Given the description of an element on the screen output the (x, y) to click on. 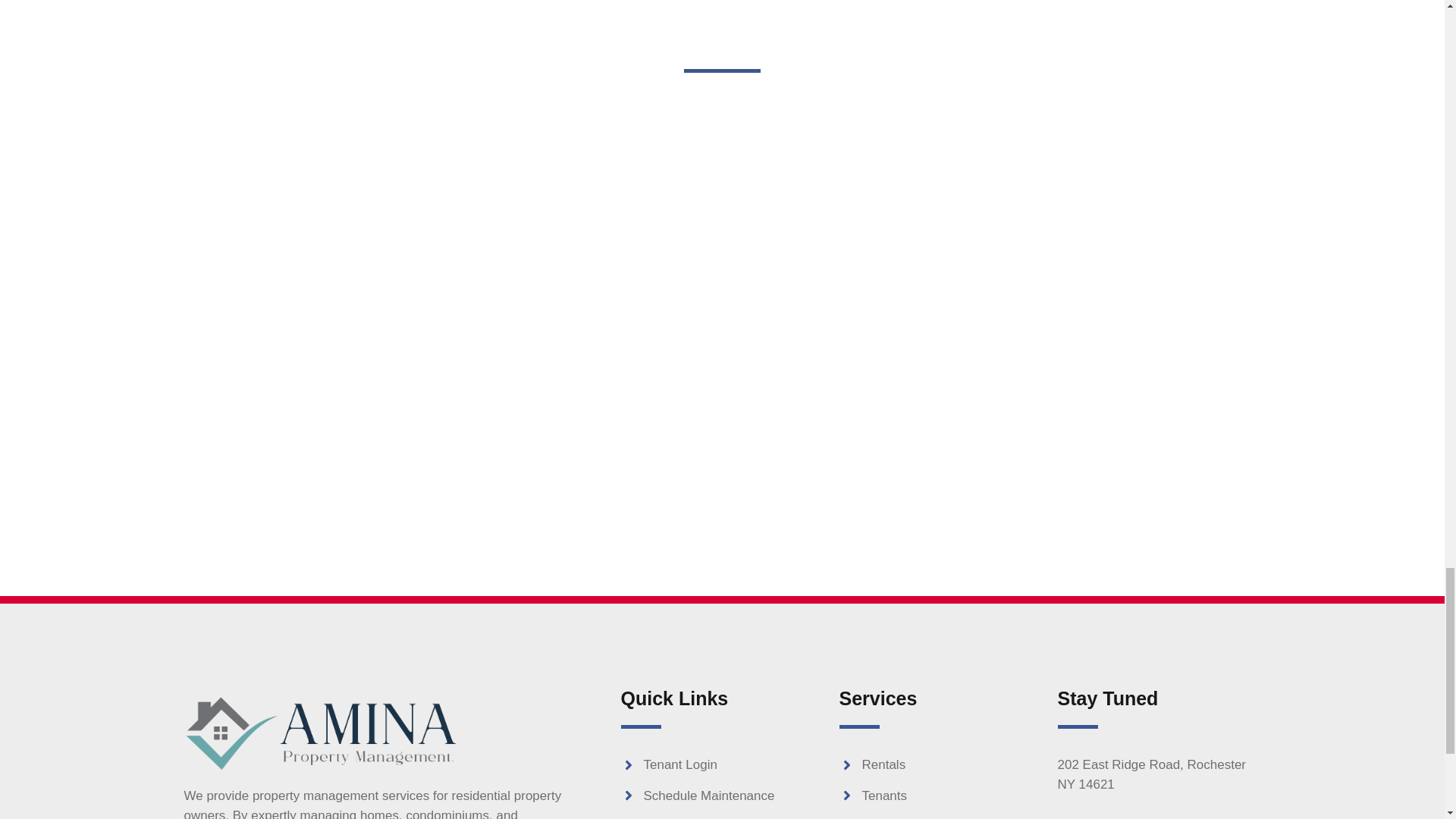
Landlord (940, 817)
Pay Online (722, 817)
Schedule Maintenance (722, 795)
Tenant Login (722, 764)
Rentals (940, 764)
Tenants (940, 795)
